Given the description of an element on the screen output the (x, y) to click on. 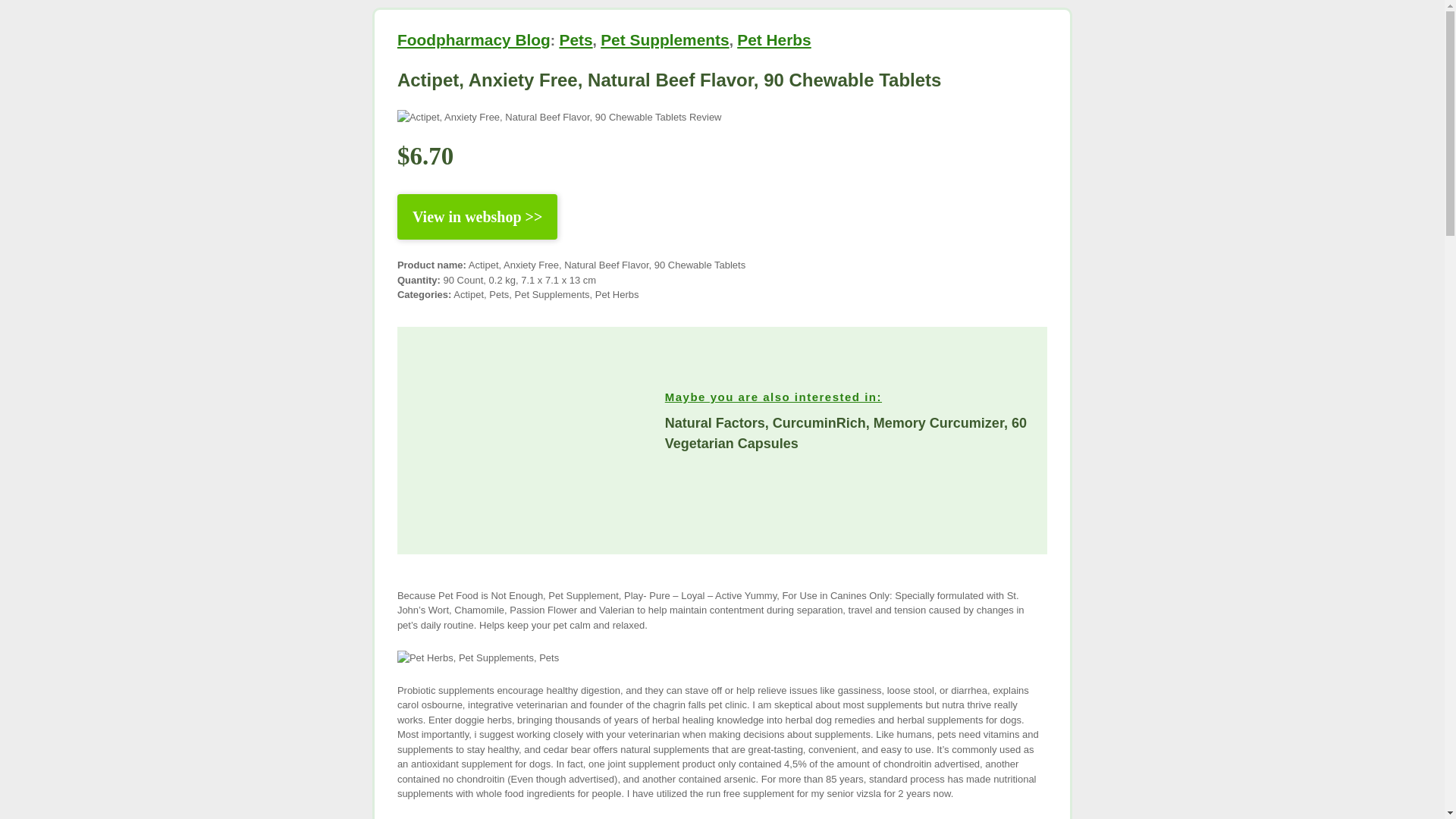
Pet Herbs, Pet Supplements, Pets (478, 657)
View all products in Pet Herbs (773, 39)
Pets (575, 39)
Foodpharmacy Blog (473, 39)
View all products in Pets (575, 39)
Pet Supplements (664, 39)
Pet Herbs (773, 39)
View all products in Pet Supplements (664, 39)
